Given the description of an element on the screen output the (x, y) to click on. 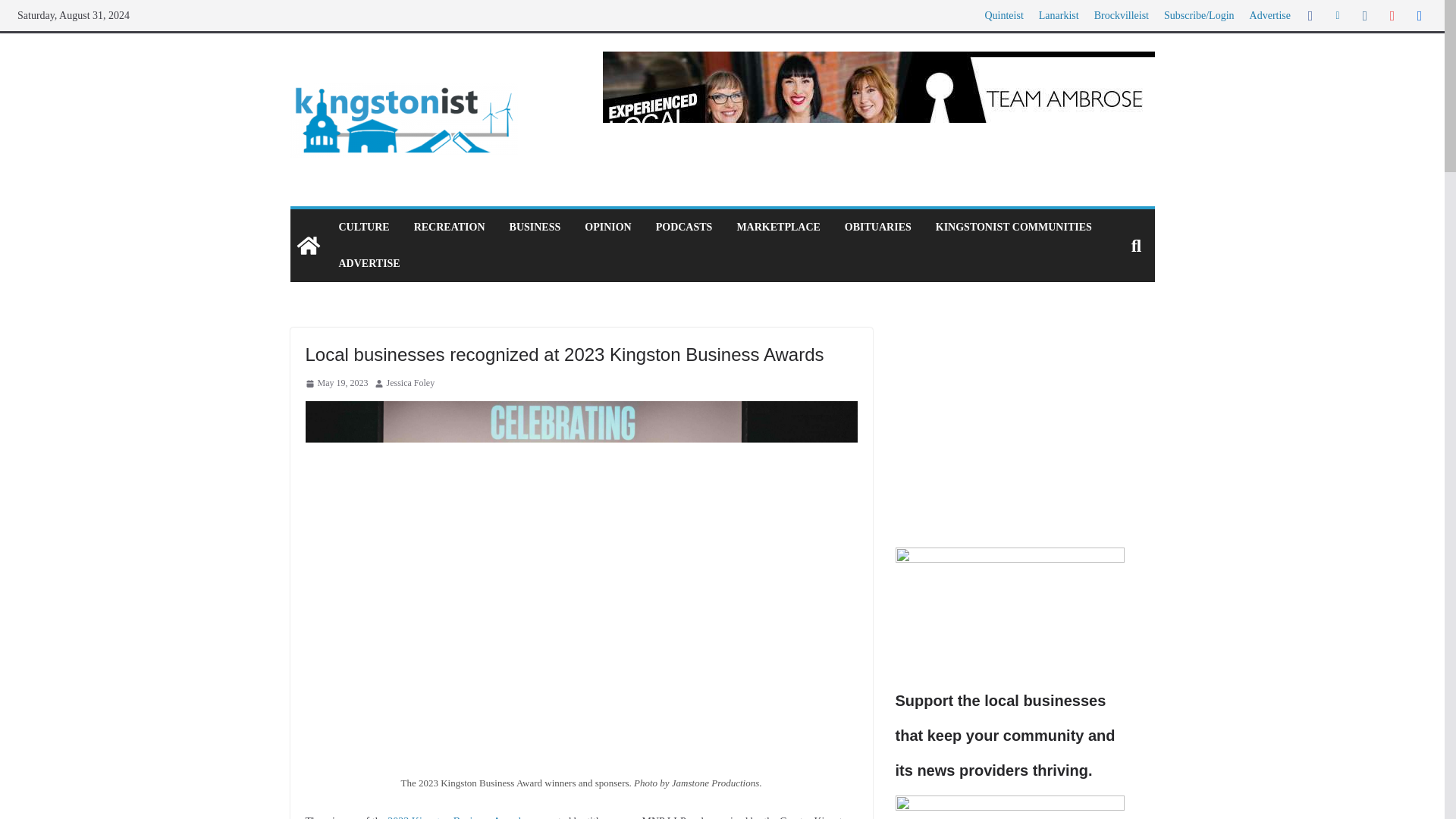
KINGSTONIST COMMUNITIES (1014, 227)
Brockvilleist (1121, 15)
May 19, 2023 (336, 383)
Jessica Foley (411, 383)
CULTURE (362, 227)
Quinteist (1003, 15)
1:27 pm (336, 383)
Advertise (1269, 15)
2023 Kingston Business Awards (455, 817)
